Given the description of an element on the screen output the (x, y) to click on. 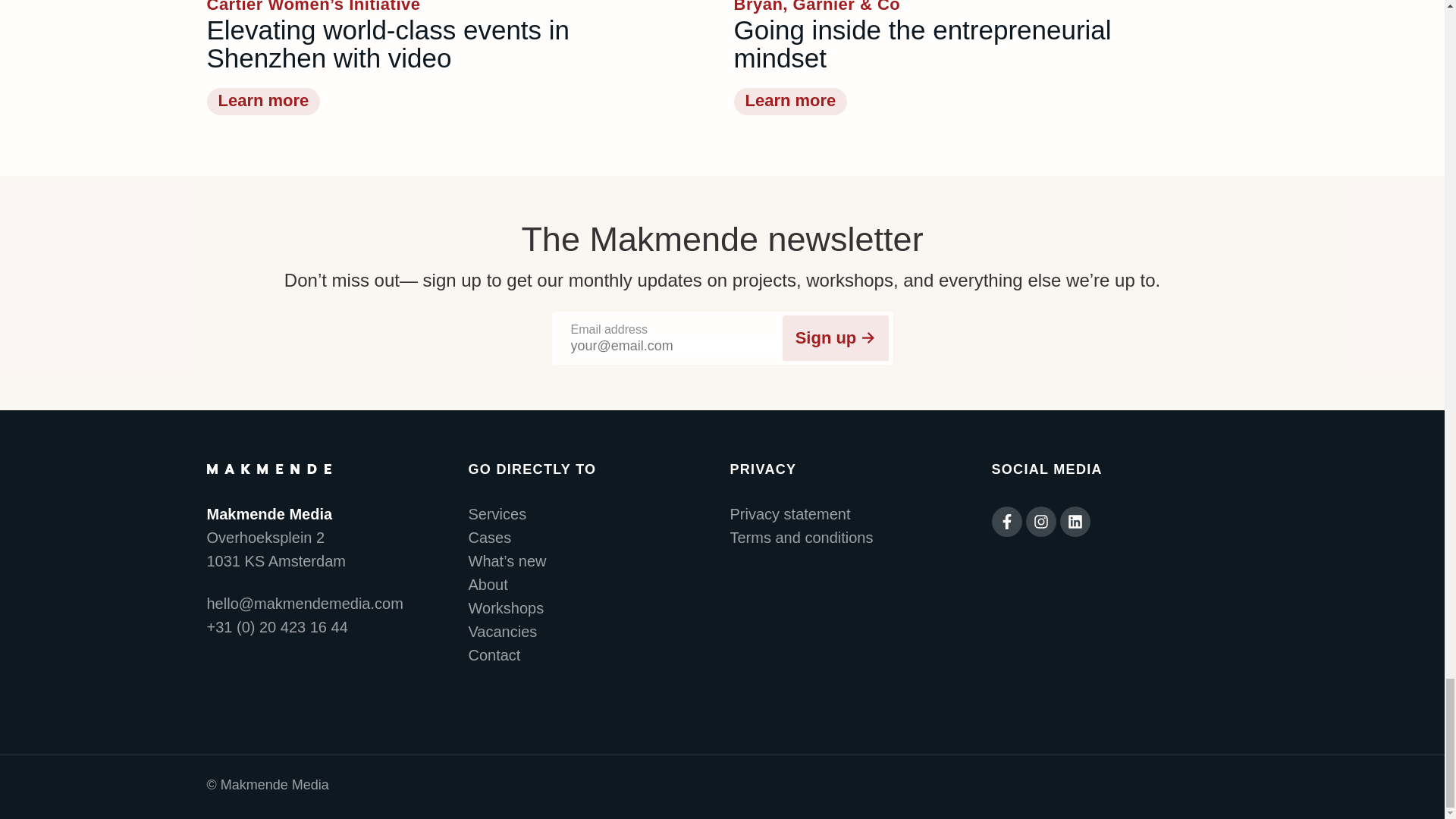
Workshops (591, 608)
Cases (591, 537)
Services (591, 514)
Contact (591, 655)
Sign up (835, 337)
About (591, 584)
Vacancies (591, 631)
